Given the description of an element on the screen output the (x, y) to click on. 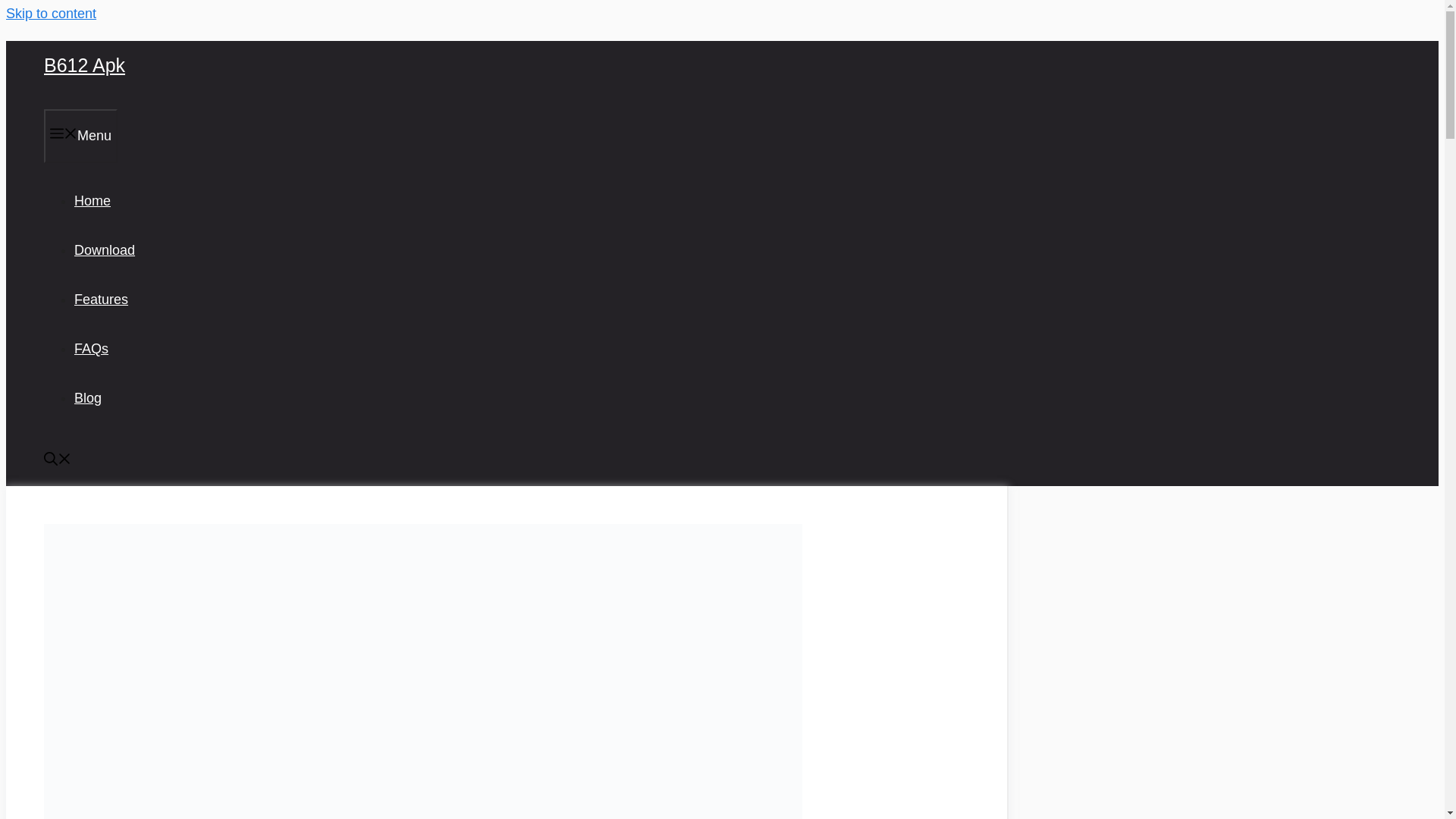
Home (92, 200)
Features (101, 299)
B612 Apk (84, 65)
Download (104, 249)
Skip to content (50, 13)
Skip to content (50, 13)
Menu (80, 135)
FAQs (90, 348)
Blog (87, 397)
